Given the description of an element on the screen output the (x, y) to click on. 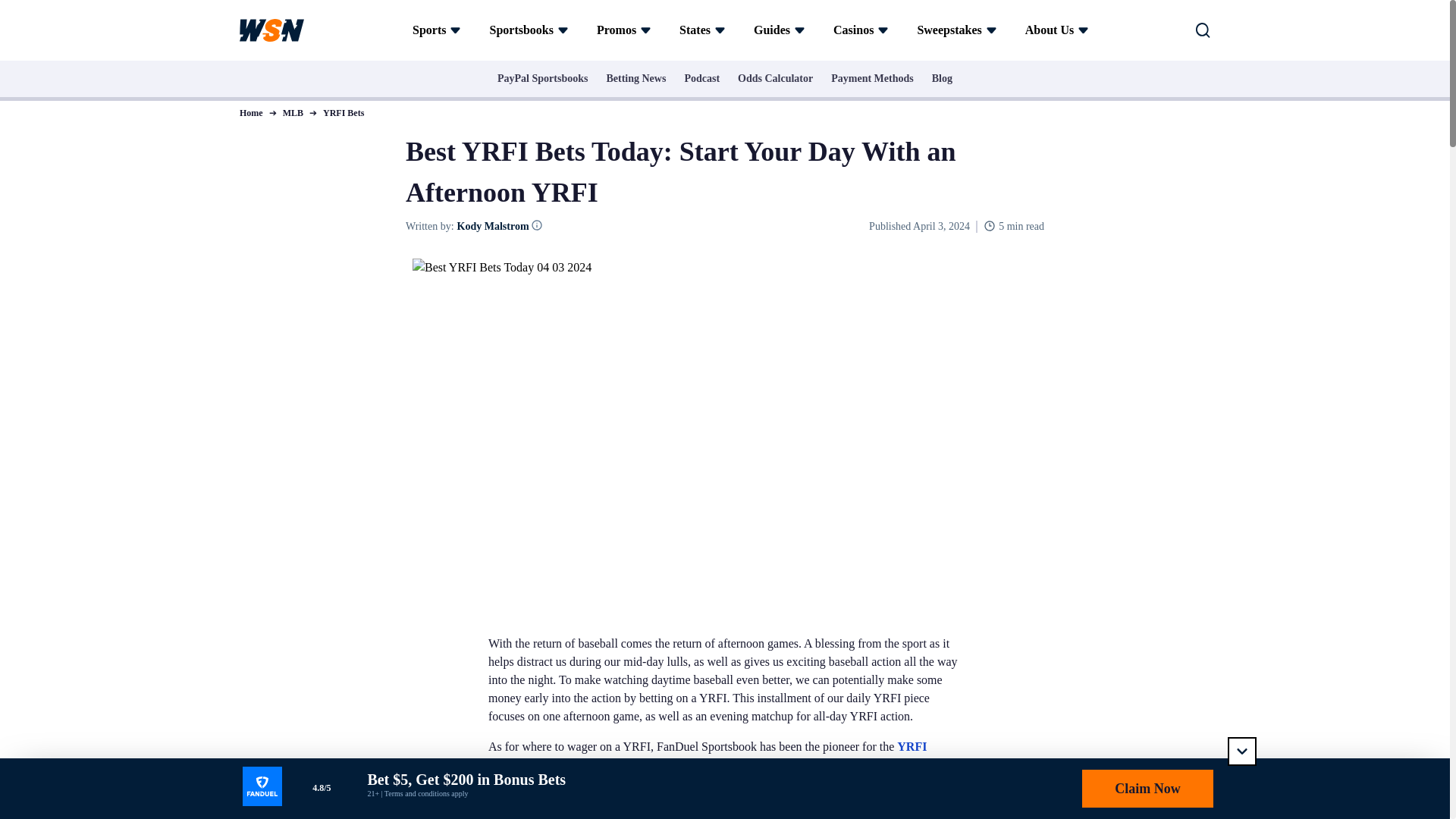
World Sports Network (272, 29)
